Given the description of an element on the screen output the (x, y) to click on. 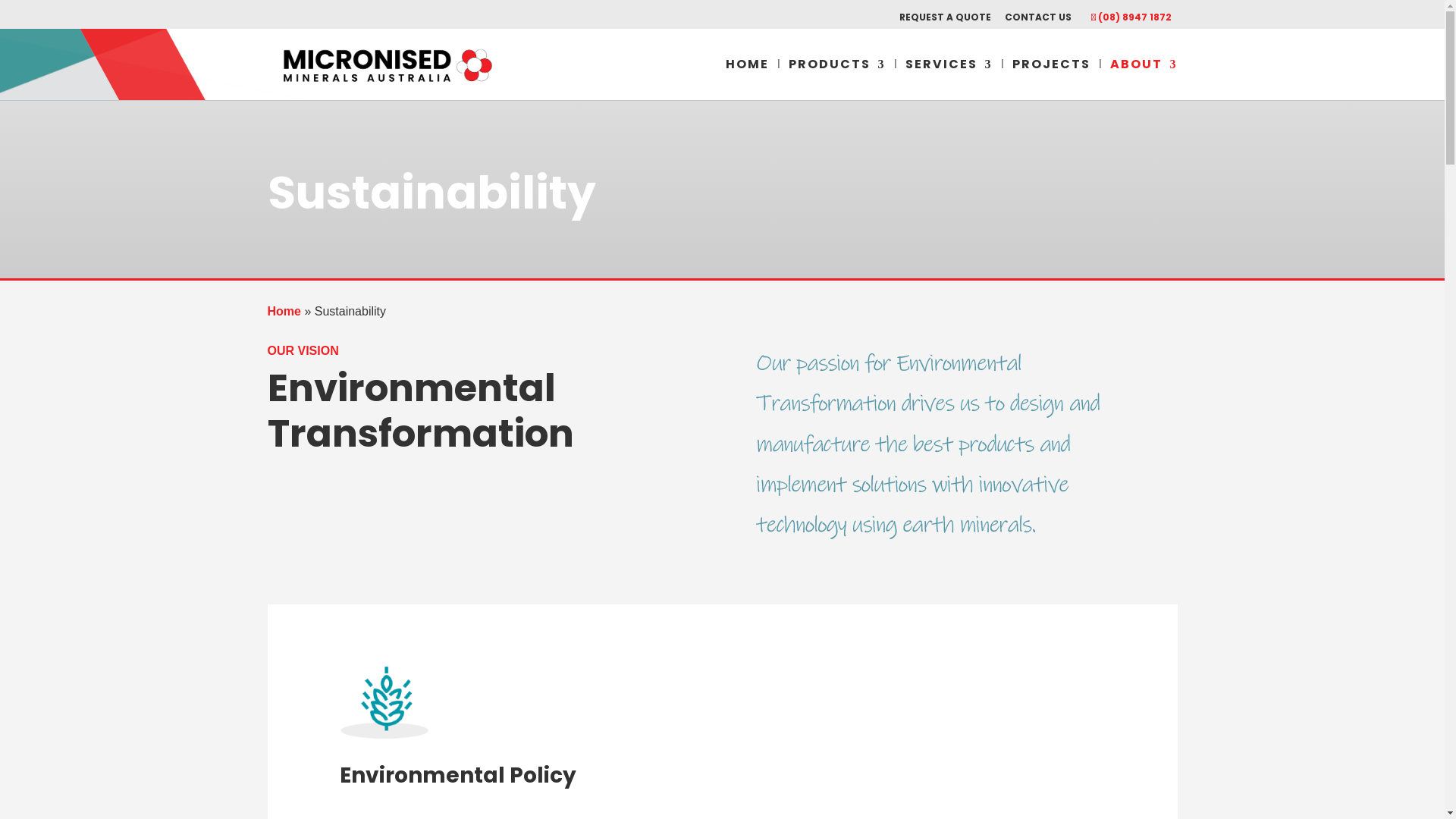
CONTACT US Element type: text (1037, 20)
HOME Element type: text (746, 79)
PROJECTS Element type: text (1050, 79)
tree Element type: hover (384, 701)
REQUEST A QUOTE Element type: text (945, 20)
ABOUT Element type: text (1143, 79)
PRODUCTS Element type: text (836, 79)
Home Element type: text (283, 310)
passion Element type: hover (928, 446)
SERVICES Element type: text (948, 79)
